Given the description of an element on the screen output the (x, y) to click on. 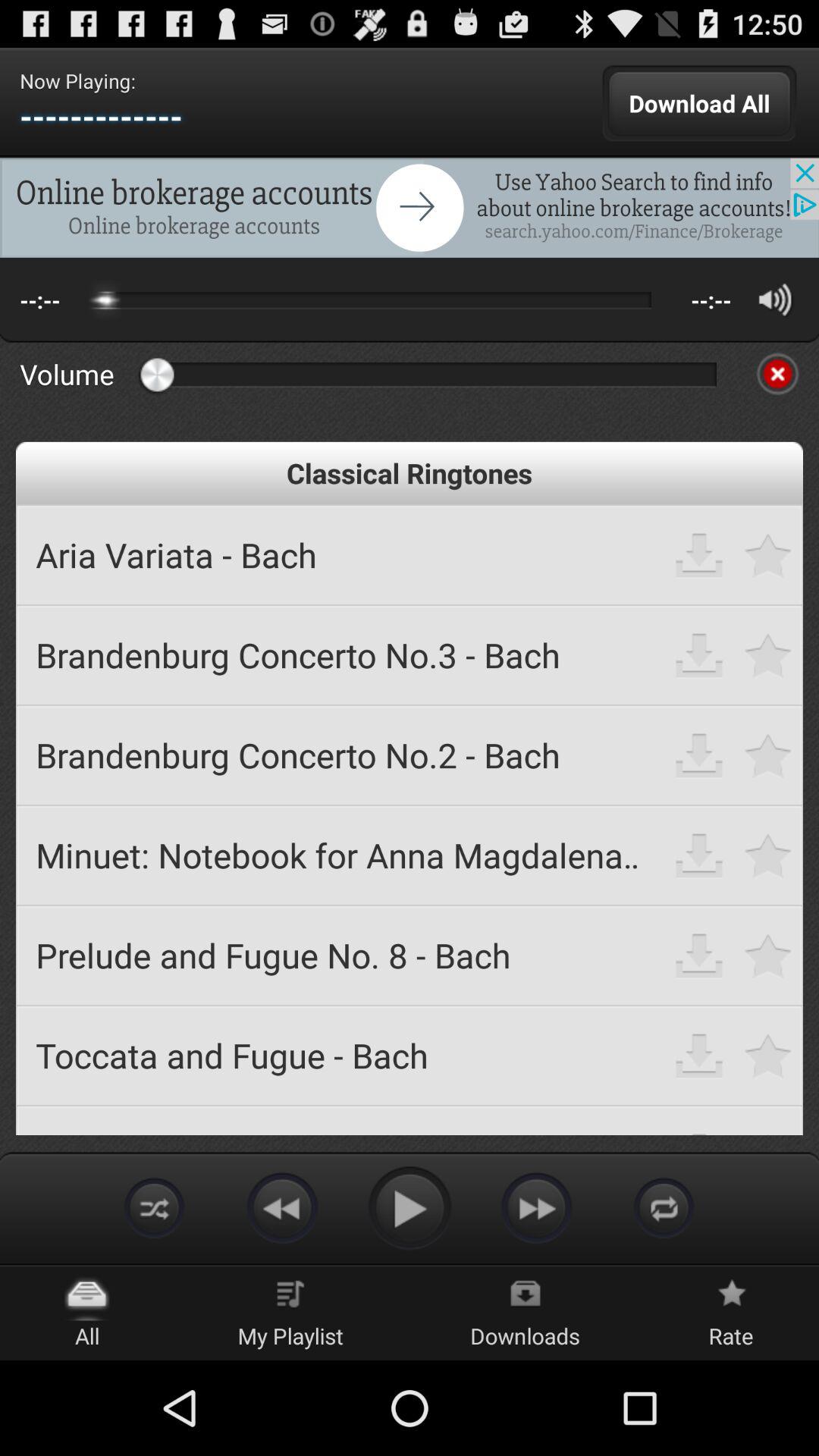
go to previous song (281, 1207)
